Given the description of an element on the screen output the (x, y) to click on. 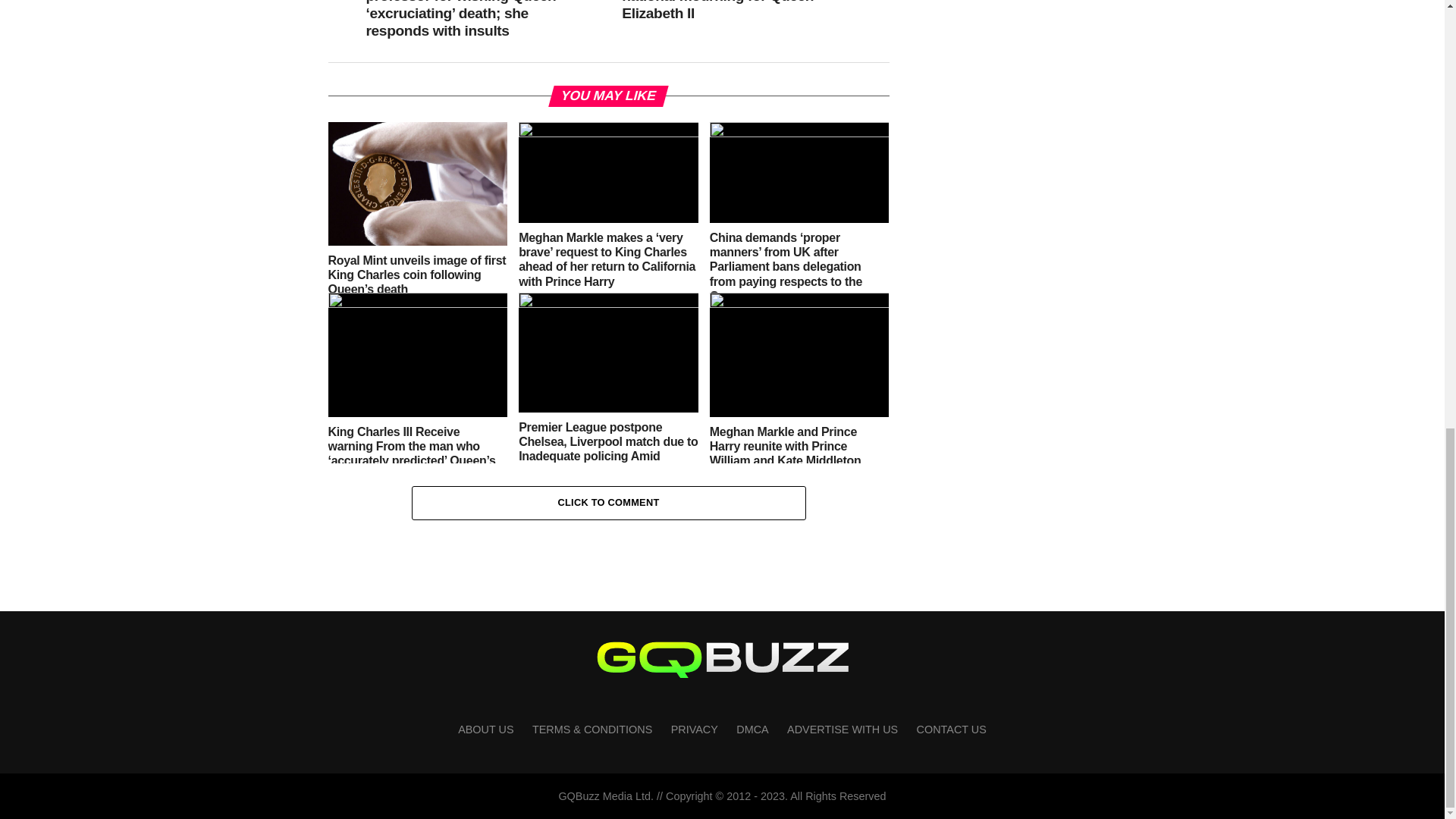
DMCA (752, 729)
PRIVACY (694, 729)
ABOUT US (485, 729)
CONTACT US (952, 729)
ADVERTISE WITH US (842, 729)
